Given the description of an element on the screen output the (x, y) to click on. 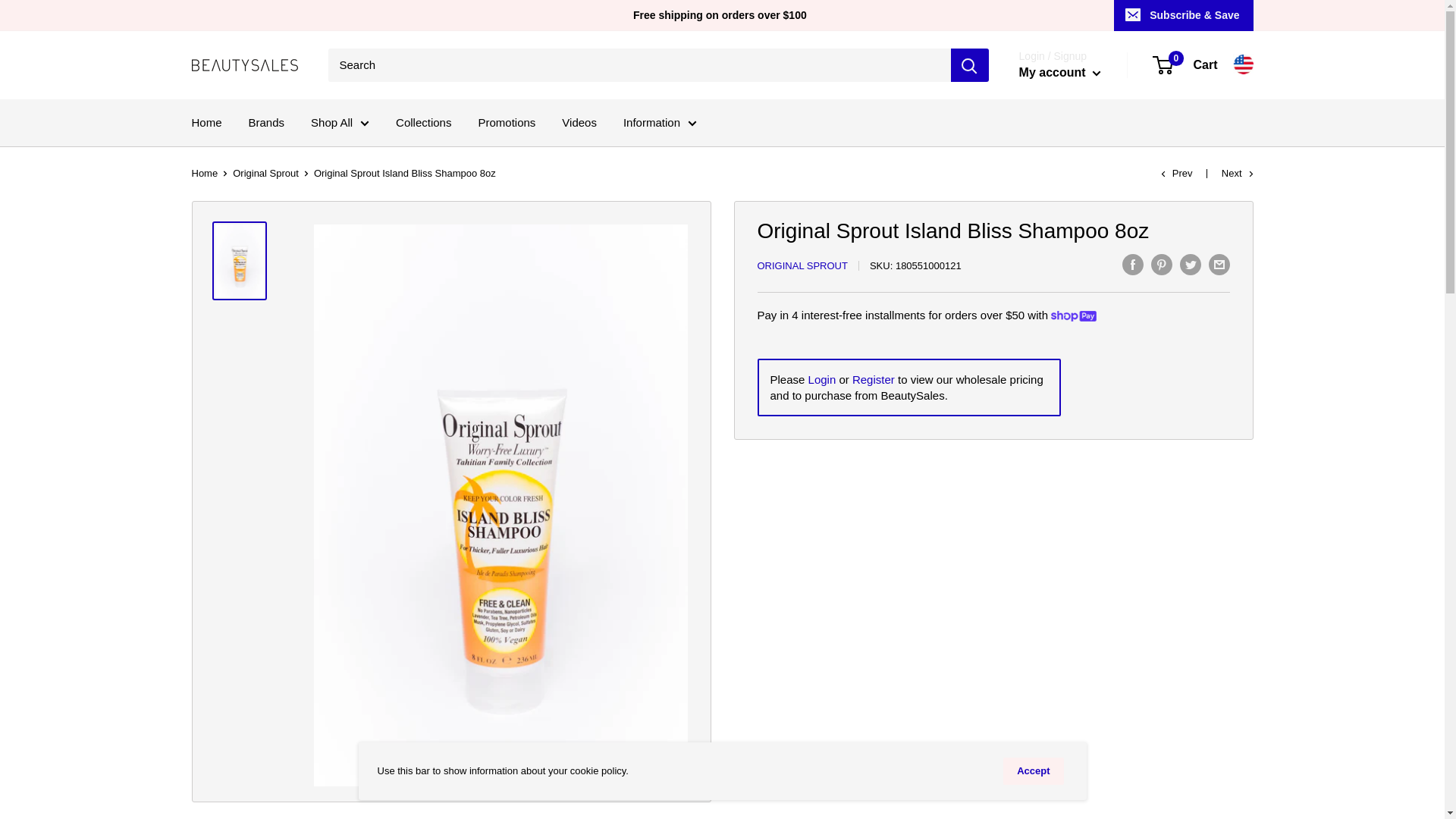
Language Translator (1243, 64)
My account (1059, 72)
Language Translator (1243, 64)
